Given the description of an element on the screen output the (x, y) to click on. 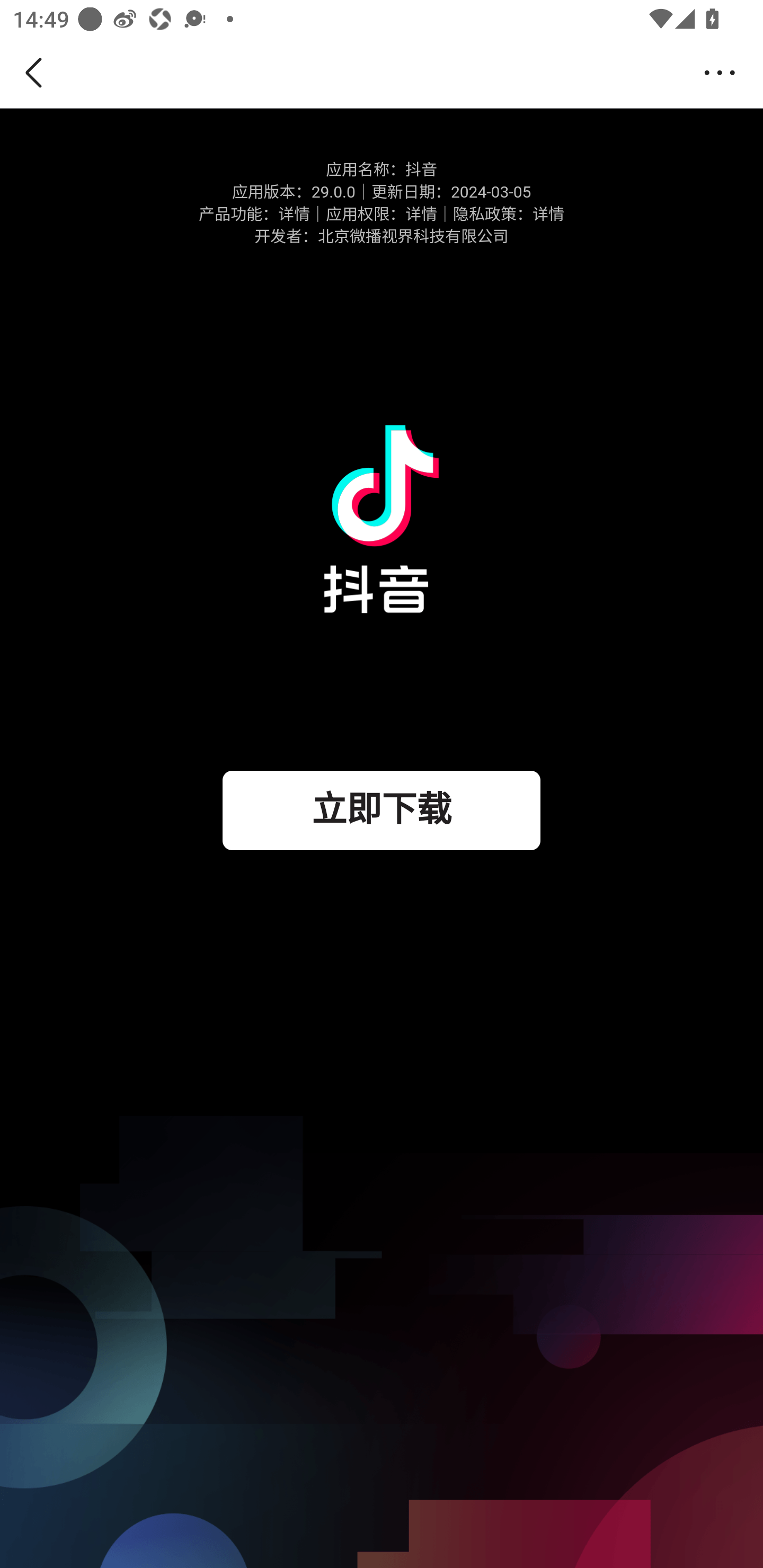
返回，按钮 (37, 72)
更多 (725, 72)
立即下载 (381, 810)
